Given the description of an element on the screen output the (x, y) to click on. 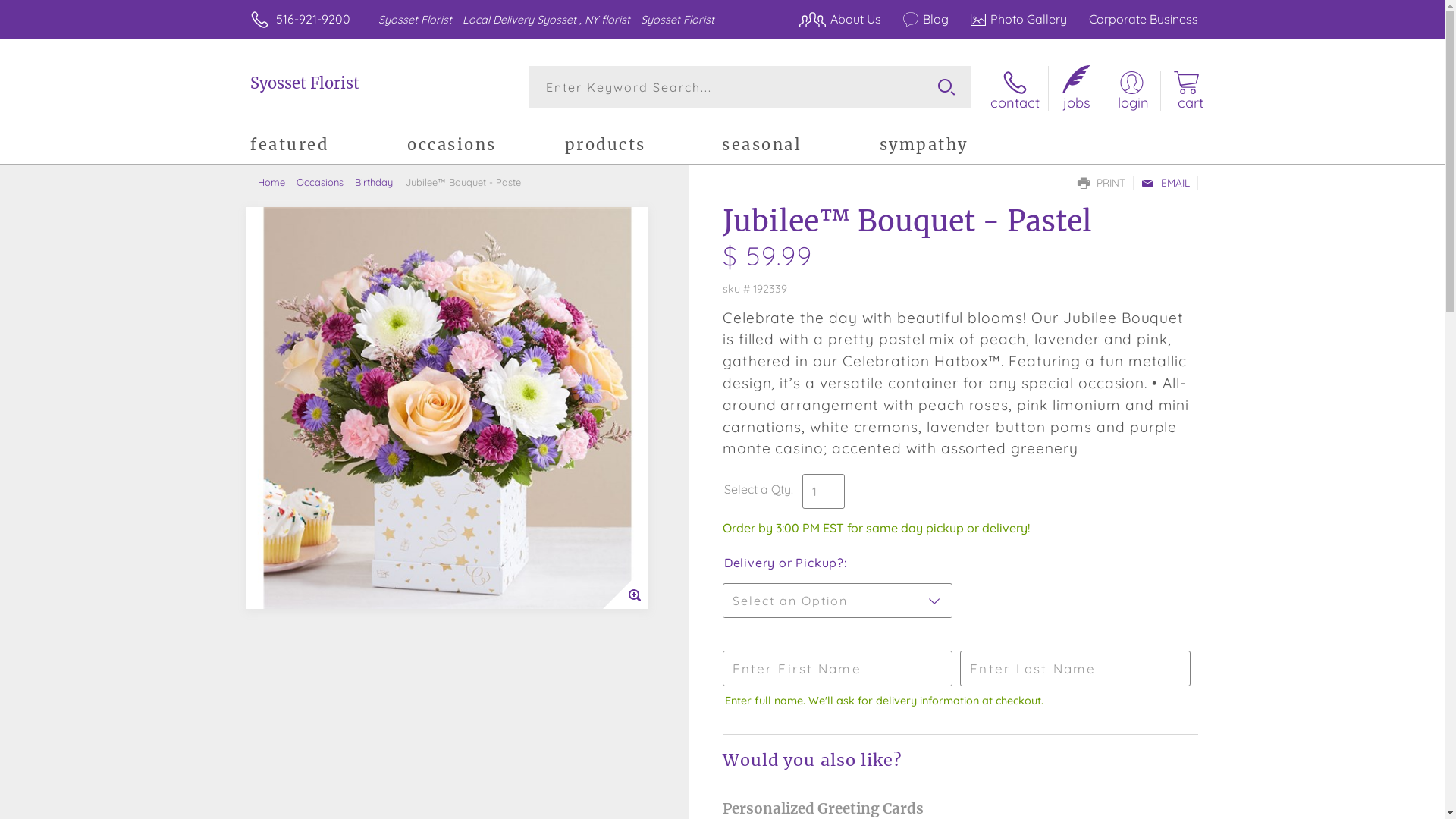
Syosset Florist Element type: text (359, 82)
cart Element type: text (1186, 91)
Photo Gallery Element type: text (1010, 18)
Birthday Element type: text (379, 181)
EMAIL Element type: text (1165, 182)
seasonal Element type: text (799, 147)
Enter Keyword Search... Element type: hover (750, 86)
featured Element type: text (328, 147)
PRINT Element type: text (1101, 182)
516-921-9200 Element type: text (313, 18)
products Element type: text (642, 147)
About Us Element type: text (832, 18)
Corporate Business Element type: text (1134, 18)
jobs Element type: text (1069, 88)
sympathy Element type: text (957, 147)
occasions Element type: text (485, 147)
login or register
login Element type: text (1131, 91)
Home Element type: text (276, 181)
contact Element type: text (1014, 91)
Blog Element type: text (917, 18)
Occasions Element type: text (325, 181)
